Given the description of an element on the screen output the (x, y) to click on. 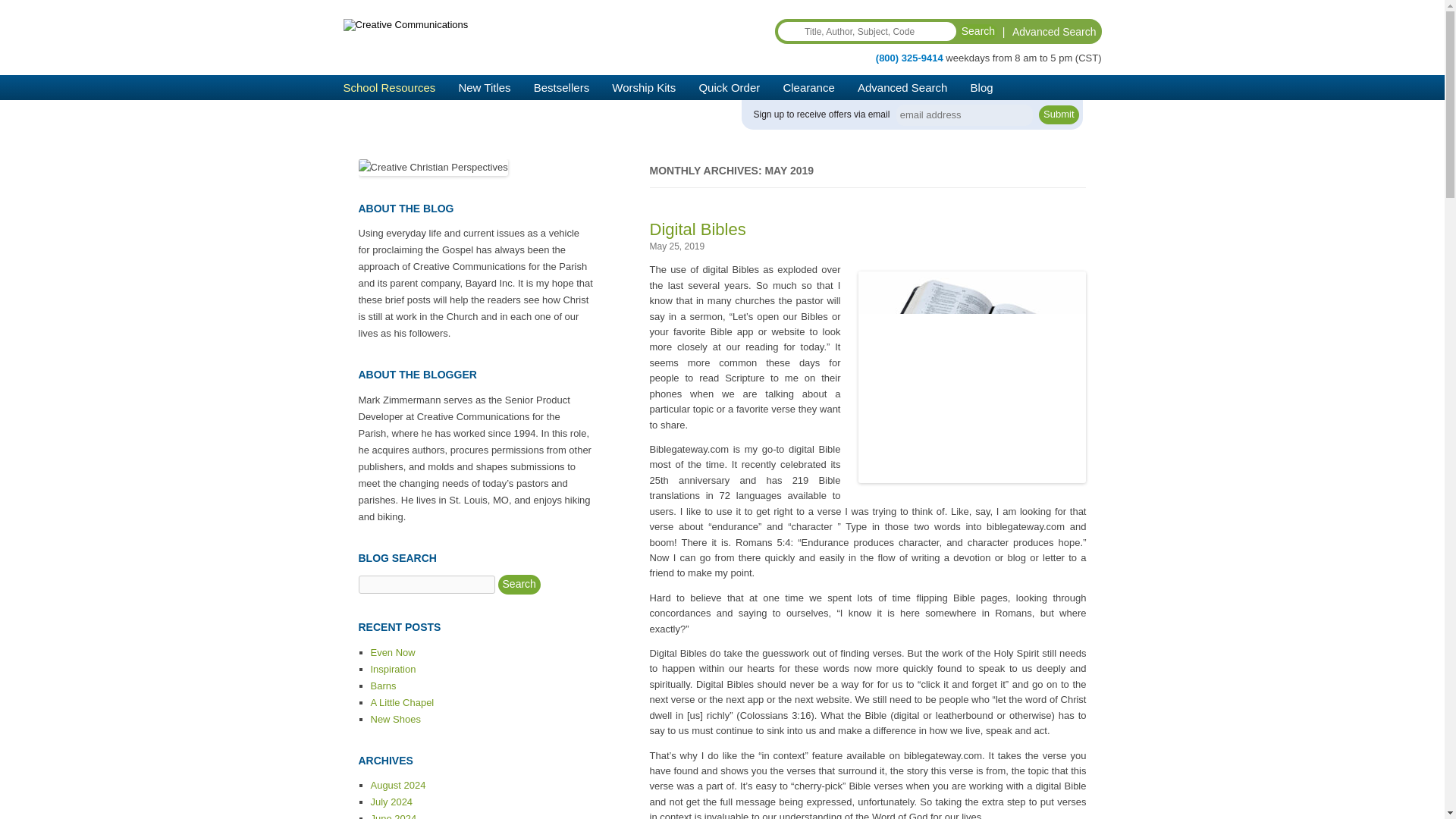
Submit (1058, 114)
Worship Kits (643, 87)
Blog (981, 87)
Advanced Search (1054, 31)
New Titles (484, 87)
Permalink to Digital Bibles (697, 229)
Quick Order (729, 87)
Search (978, 31)
7:27 pm (676, 245)
Search (978, 31)
